Given the description of an element on the screen output the (x, y) to click on. 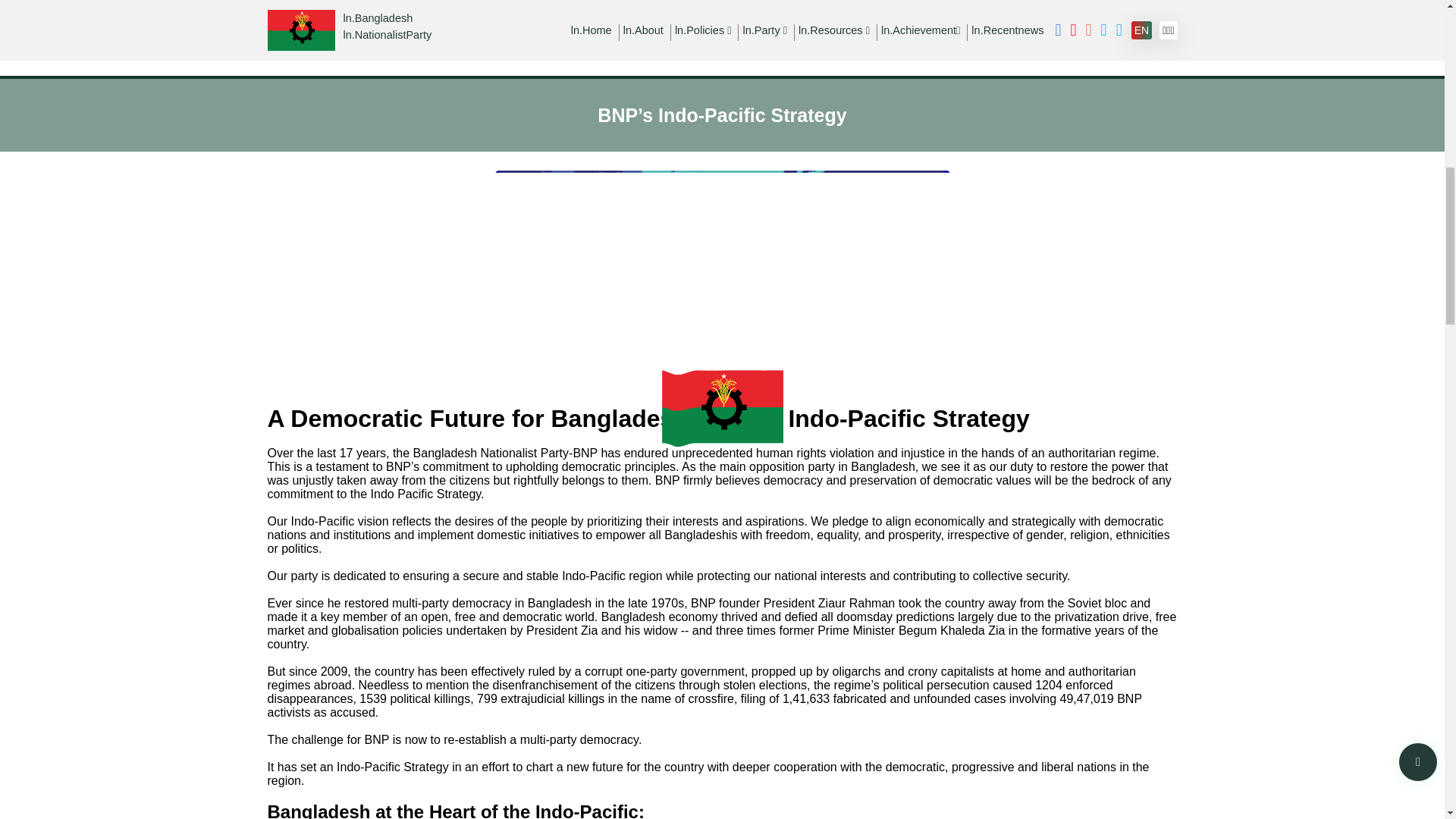
ln.Recentnews (1007, 30)
ln.Resources (833, 30)
ln.About (643, 30)
ln.Home (590, 30)
ln.Policies (703, 30)
ln.Party (764, 30)
ln.Achievement (919, 30)
